Given the description of an element on the screen output the (x, y) to click on. 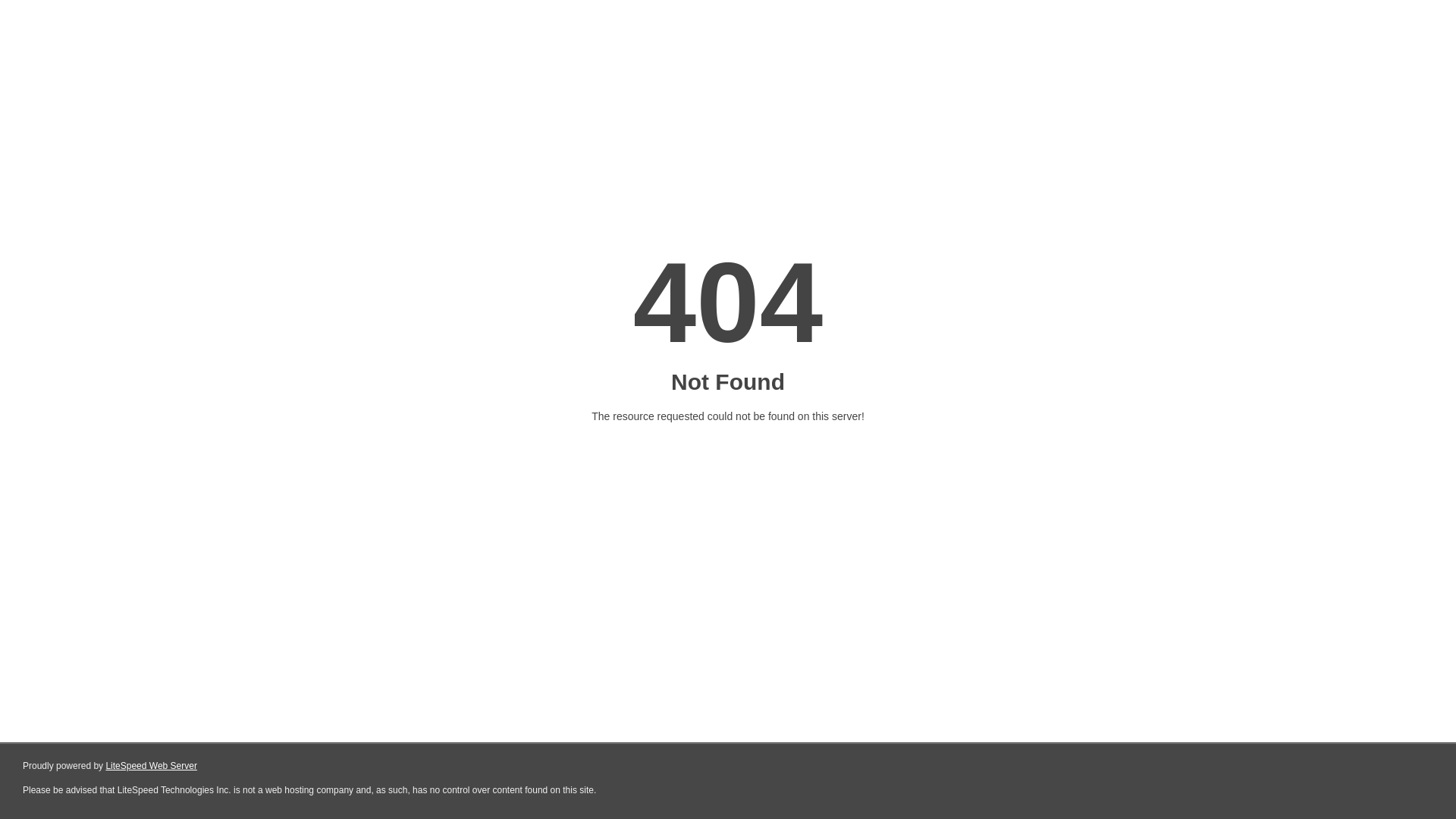
LiteSpeed Web Server Element type: text (151, 765)
